Given the description of an element on the screen output the (x, y) to click on. 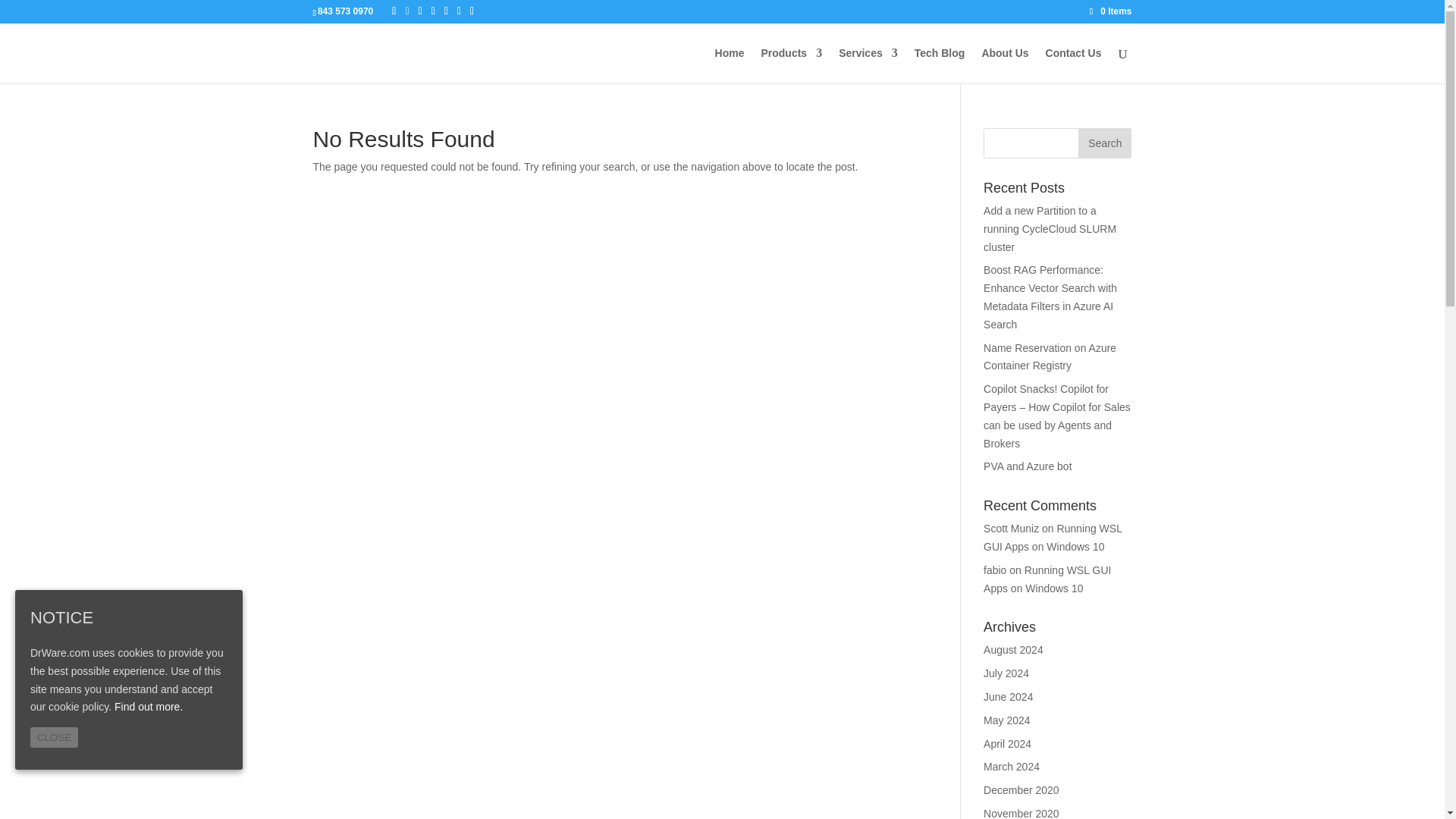
Products (791, 65)
Search (1104, 142)
843 573 0970 (344, 10)
0 Items (1110, 10)
